Given the description of an element on the screen output the (x, y) to click on. 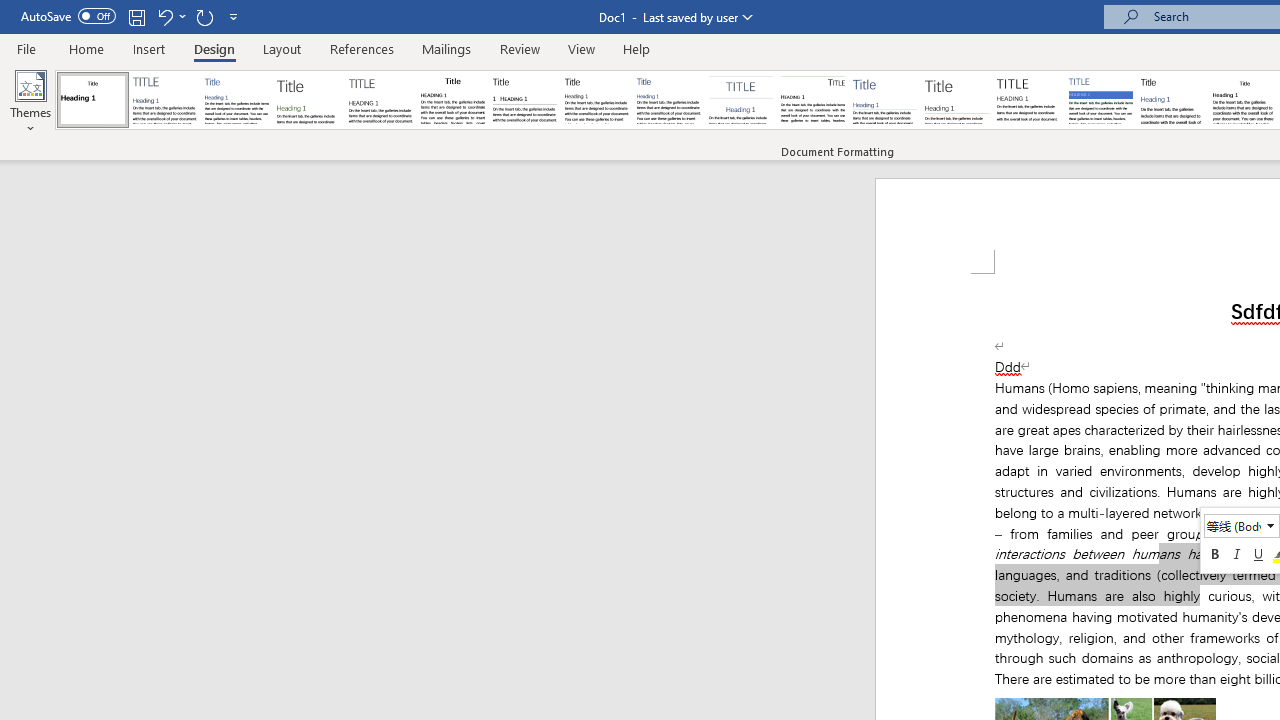
Basic (Stylish) (308, 100)
Bold (1215, 554)
Italic (1237, 554)
Shaded (1100, 100)
Themes (30, 102)
